Given the description of an element on the screen output the (x, y) to click on. 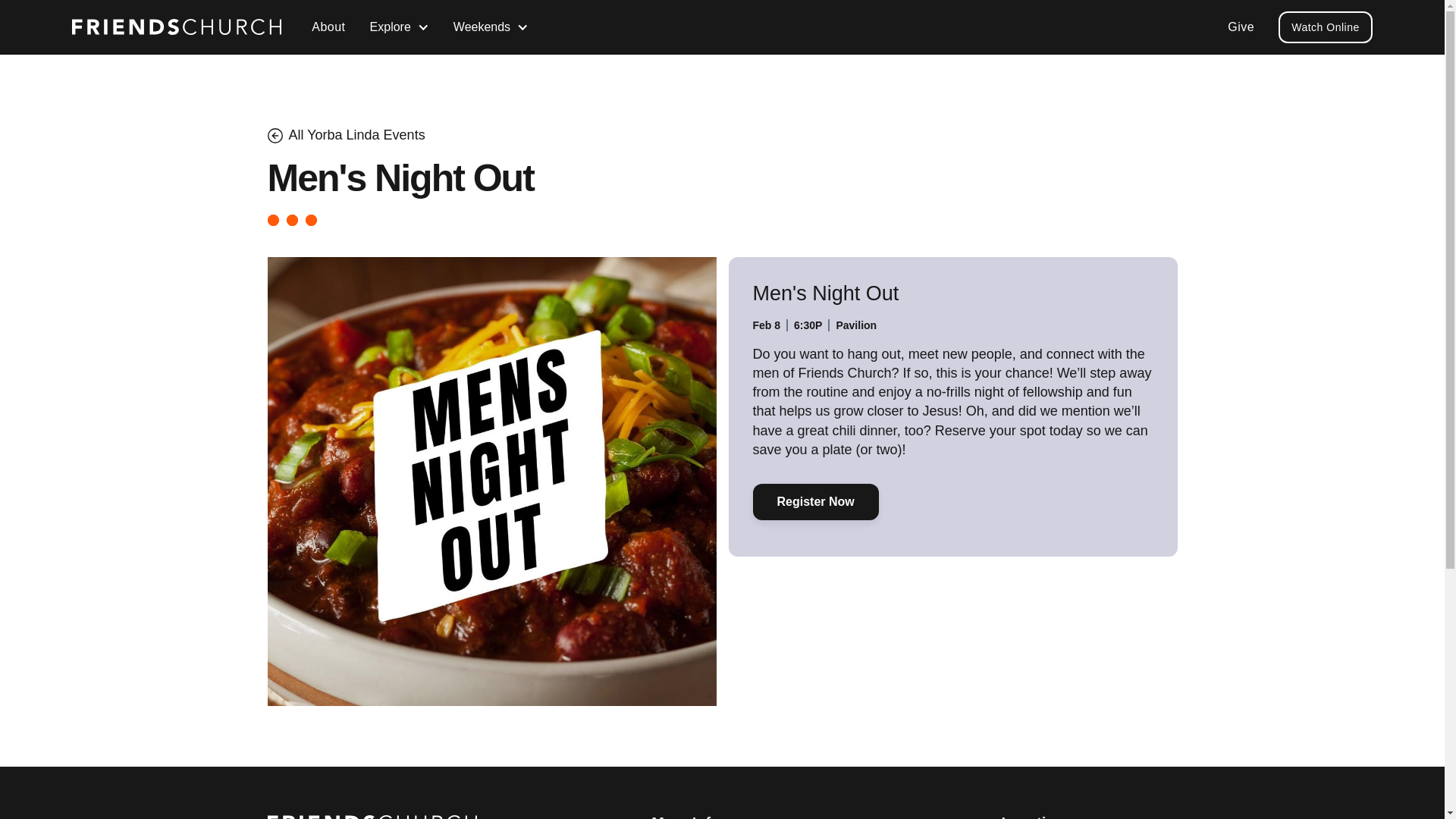
About (327, 27)
Watch Online (1325, 26)
Give (1240, 27)
All Yorba Linda Events (356, 134)
Register Now (814, 502)
